Given the description of an element on the screen output the (x, y) to click on. 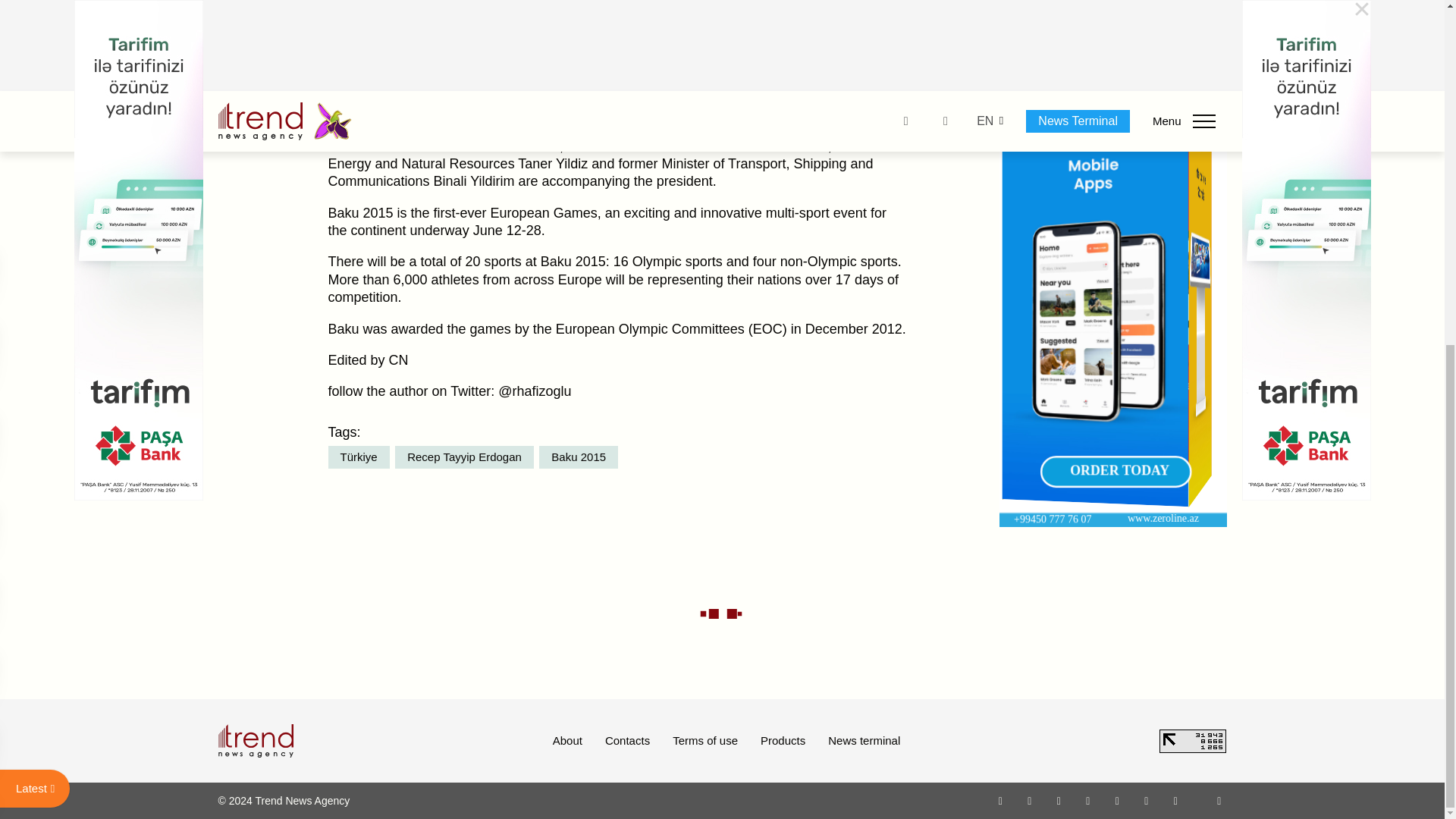
Youtube (1088, 800)
Whatsapp (1000, 800)
Twitter (1059, 800)
Android App (1176, 800)
RSS Feed (1219, 800)
3rd party ad content (1112, 19)
LinkedIn (1146, 800)
Facebook (1029, 800)
Telegram (1117, 800)
